Given the description of an element on the screen output the (x, y) to click on. 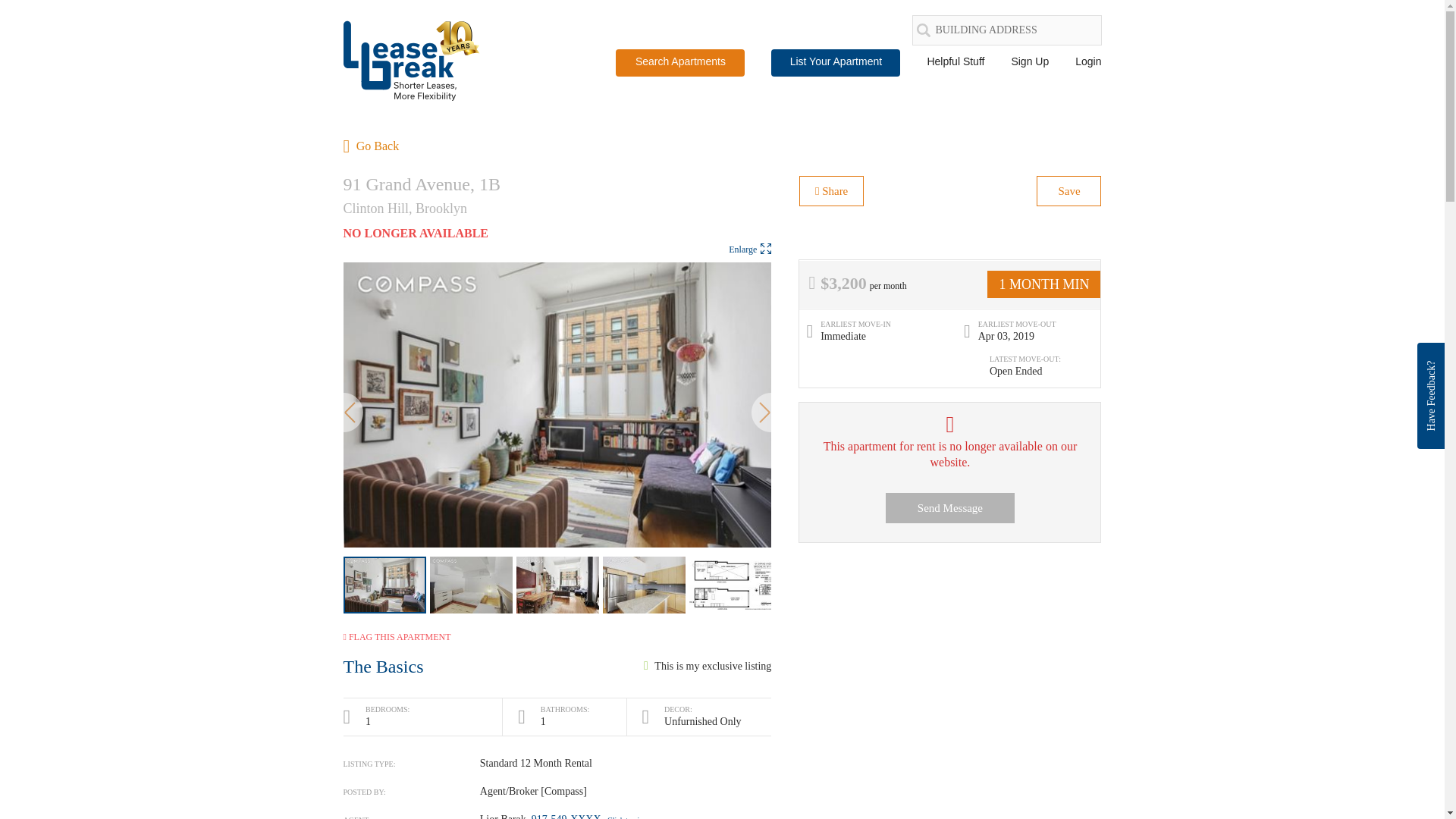
List Your Apartment (835, 62)
Go Back (370, 147)
Save (1068, 191)
Enlarge (750, 249)
Login (1087, 61)
Helpful Stuff (955, 61)
 Share (831, 191)
Sign Up (1029, 61)
 FLAG THIS APARTMENT (395, 636)
Search Apartments (679, 62)
